Given the description of an element on the screen output the (x, y) to click on. 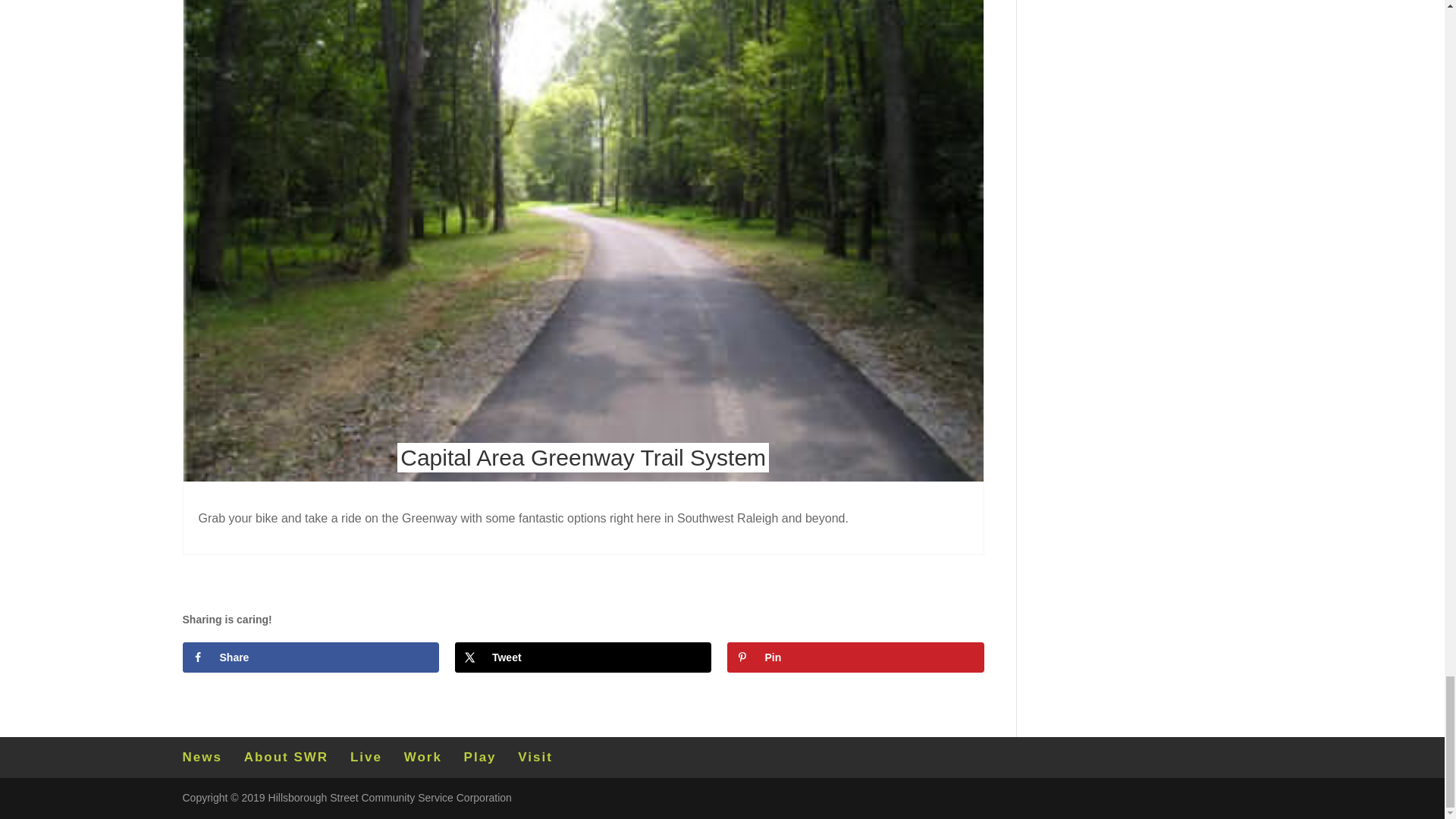
Share on X (582, 657)
Share on Facebook (310, 657)
Save to Pinterest (855, 657)
